Given the description of an element on the screen output the (x, y) to click on. 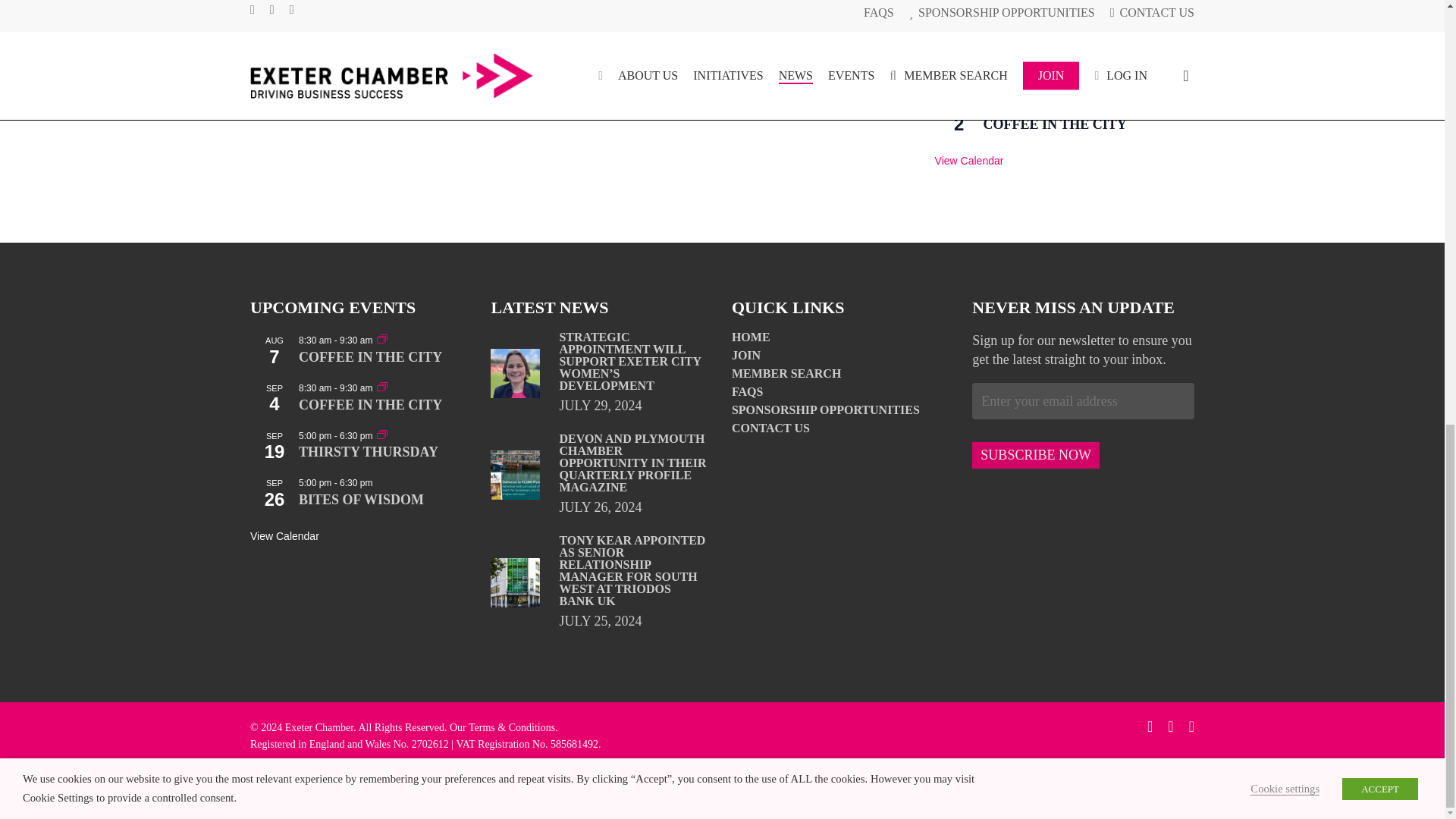
COFFEE IN THE CITY (1055, 124)
Event Series (1066, 105)
View more events. (969, 160)
Subscribe now (1035, 455)
Event Series (1066, 12)
Event Series (1066, 107)
BITES OF WISDOM (1046, 76)
EXETER CHAMBER (463, 46)
Event Series (382, 338)
THIRSTY THURSDAY (1053, 29)
Event Series (1066, 10)
Event Series (382, 433)
Event Series (382, 386)
